Given the description of an element on the screen output the (x, y) to click on. 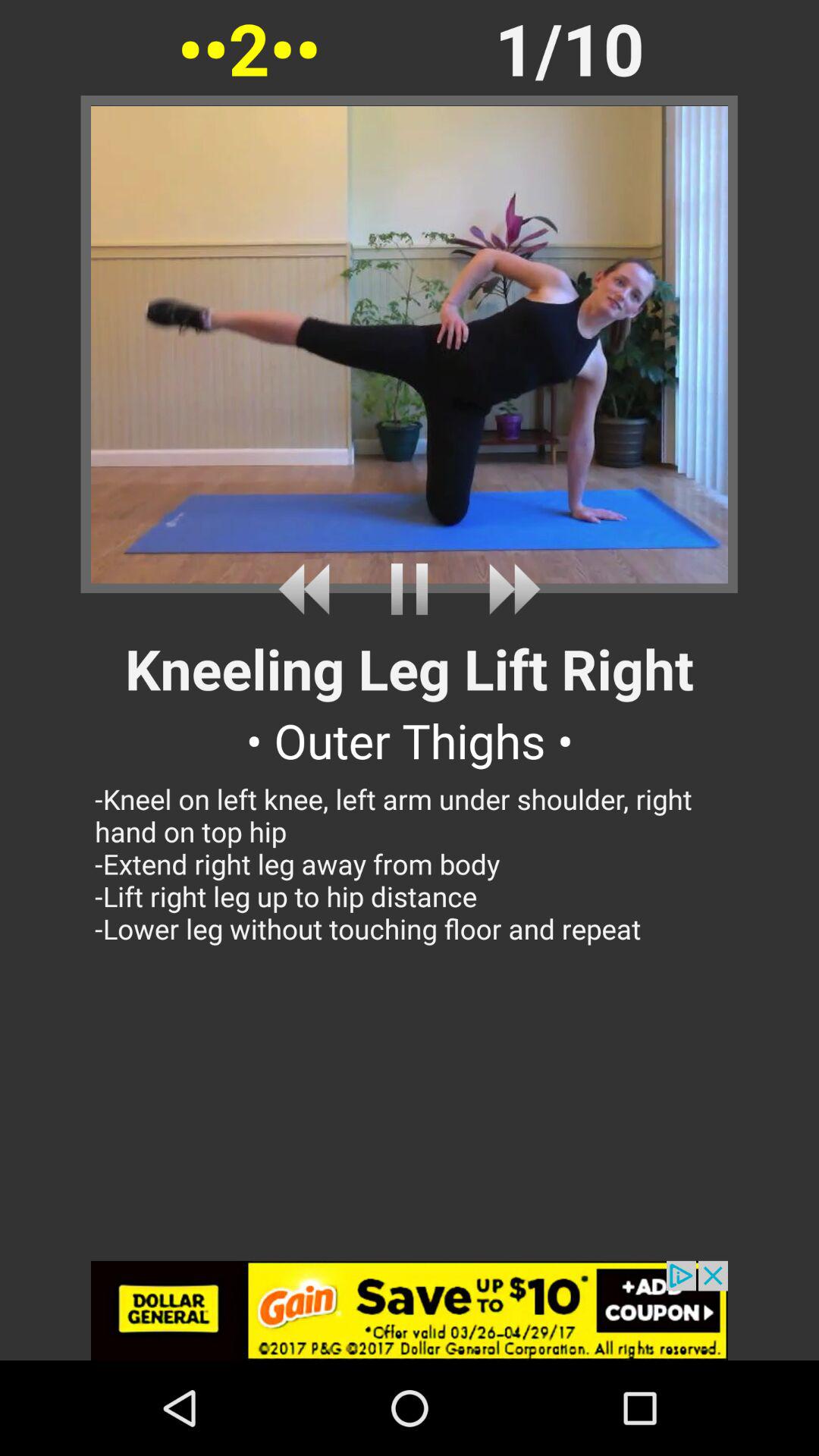
watch next video (508, 589)
